Given the description of an element on the screen output the (x, y) to click on. 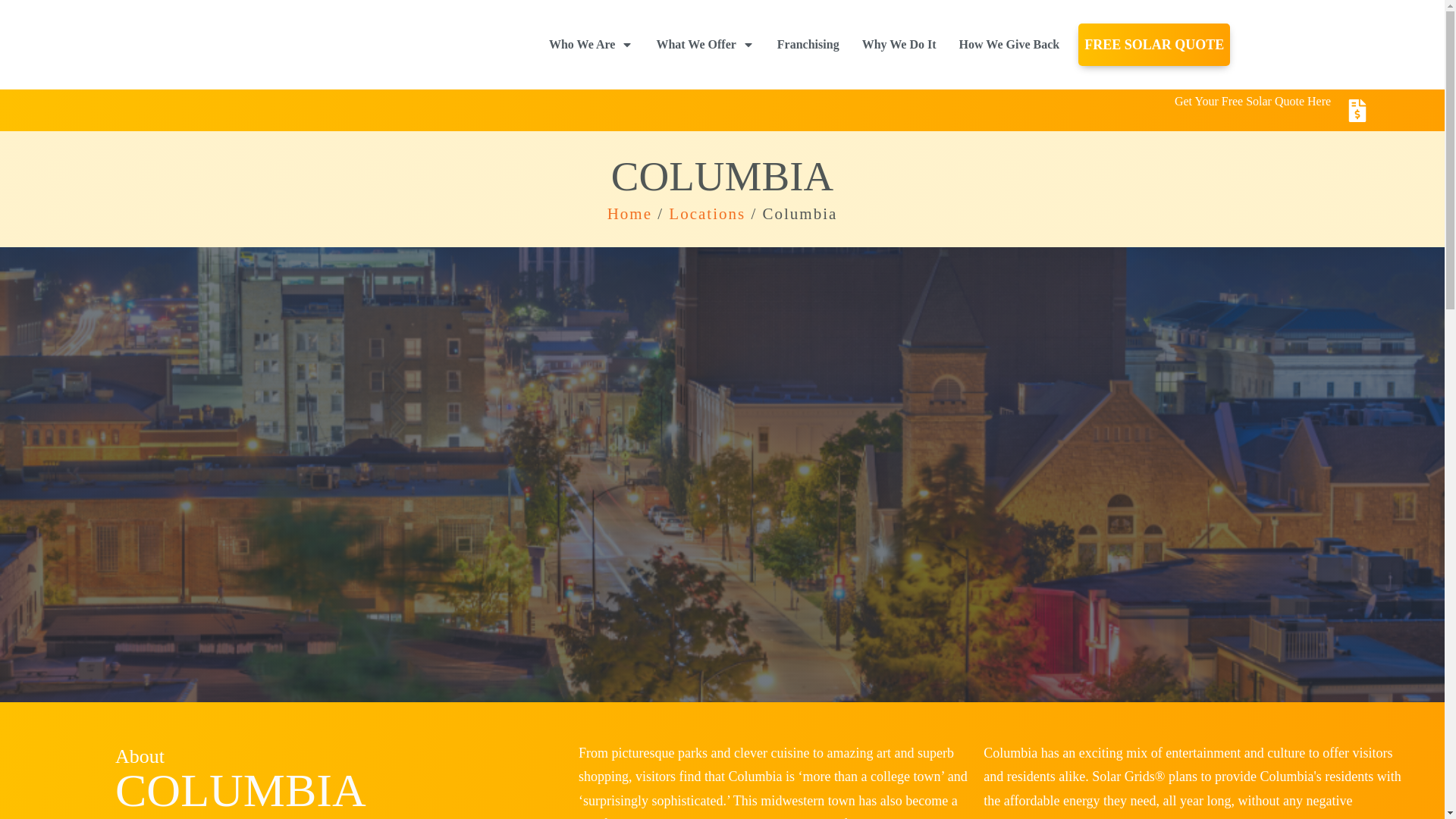
FREE SOLAR QUOTE (1154, 44)
Who We Are (590, 44)
What We Offer (705, 44)
Get Your Free Solar Quote Here (1252, 100)
Why We Do It (898, 44)
Franchising (808, 44)
Locations (706, 213)
Home (629, 213)
How We Give Back (1009, 44)
